Given the description of an element on the screen output the (x, y) to click on. 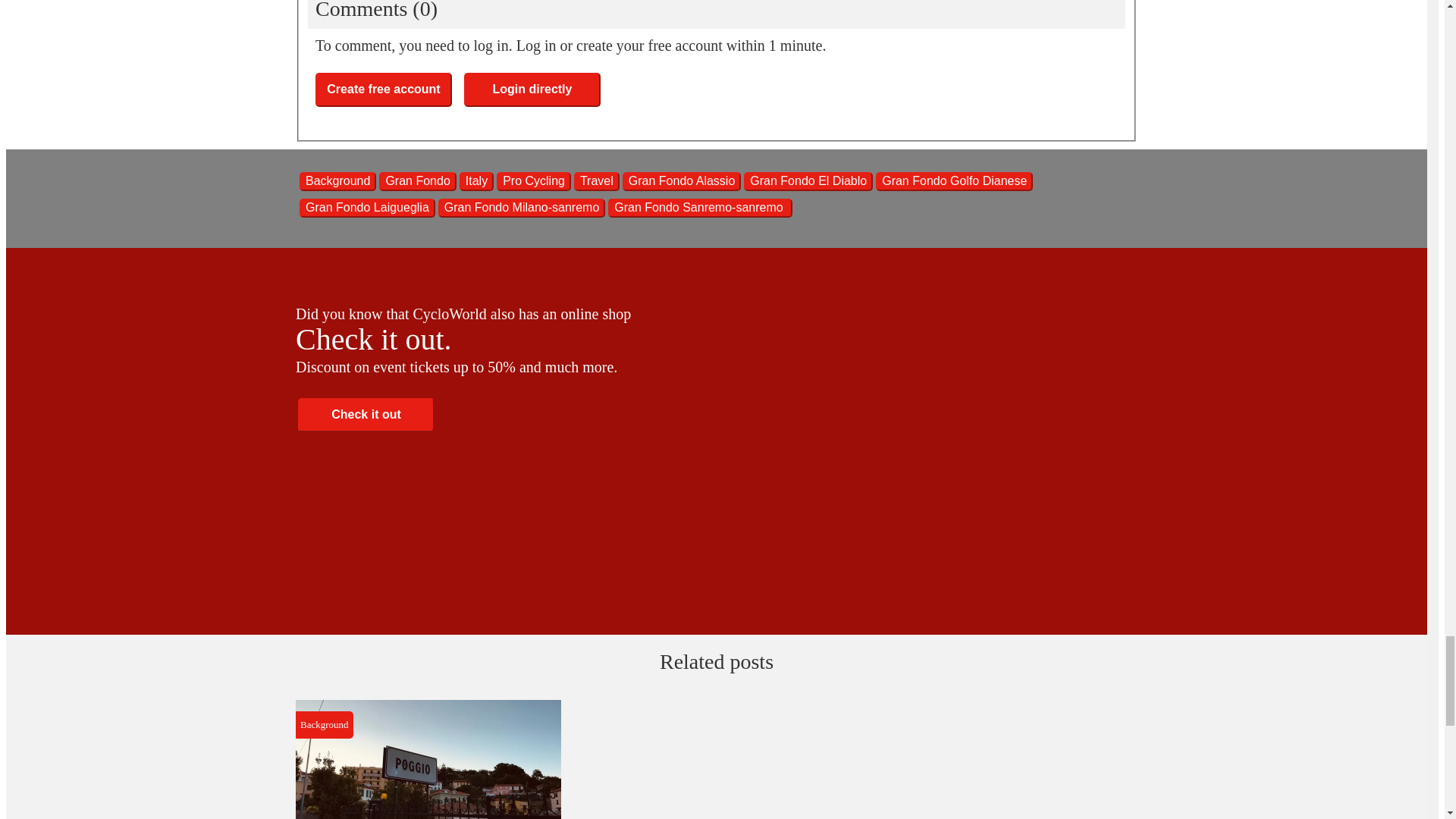
Gran Fondo (416, 180)
Italy (476, 180)
Pro Cycling (533, 180)
Create free account (383, 89)
Background (337, 180)
Login directly (531, 89)
